Given the description of an element on the screen output the (x, y) to click on. 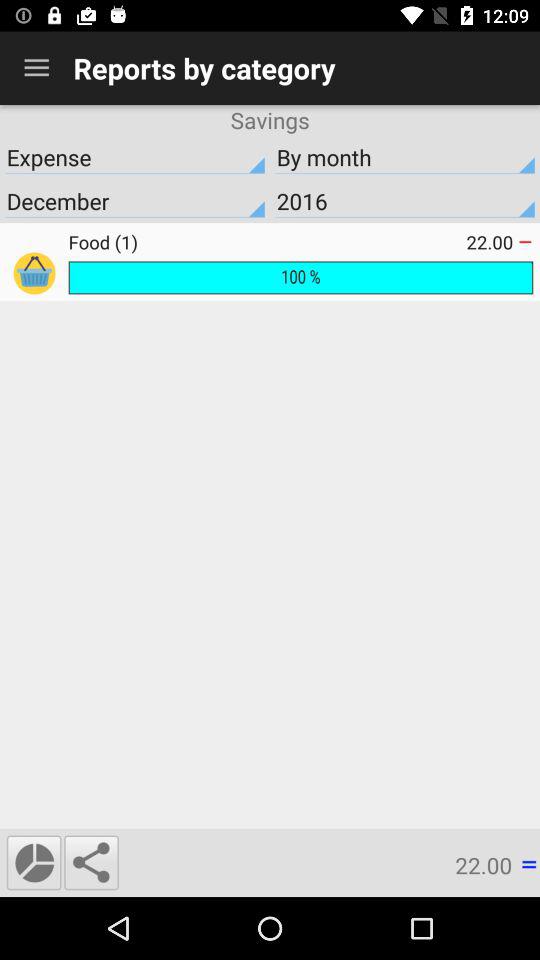
click the icon next to the expense item (405, 157)
